Given the description of an element on the screen output the (x, y) to click on. 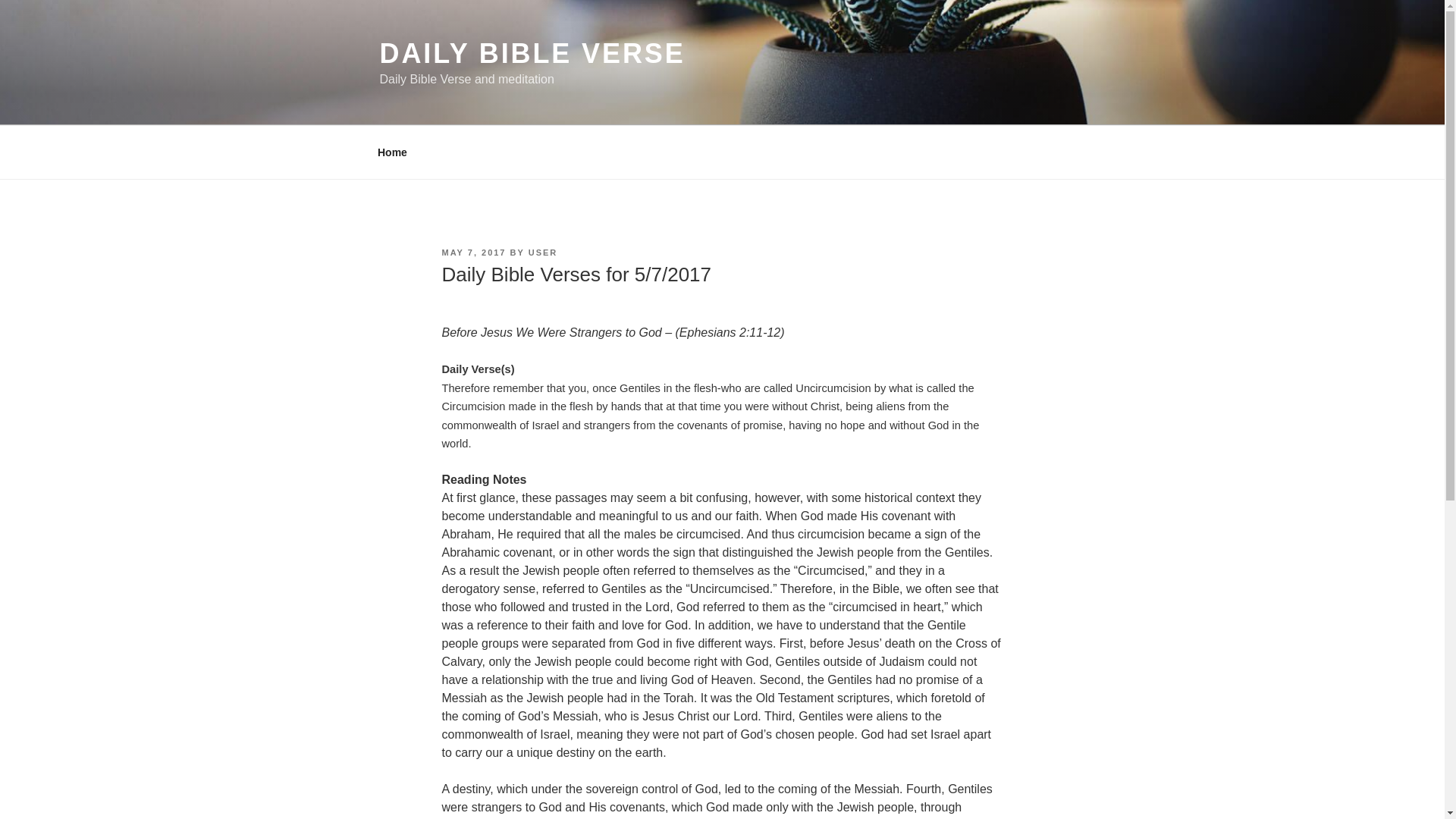
MAY 7, 2017 (473, 252)
Home (392, 151)
DAILY BIBLE VERSE (531, 52)
USER (542, 252)
